Given the description of an element on the screen output the (x, y) to click on. 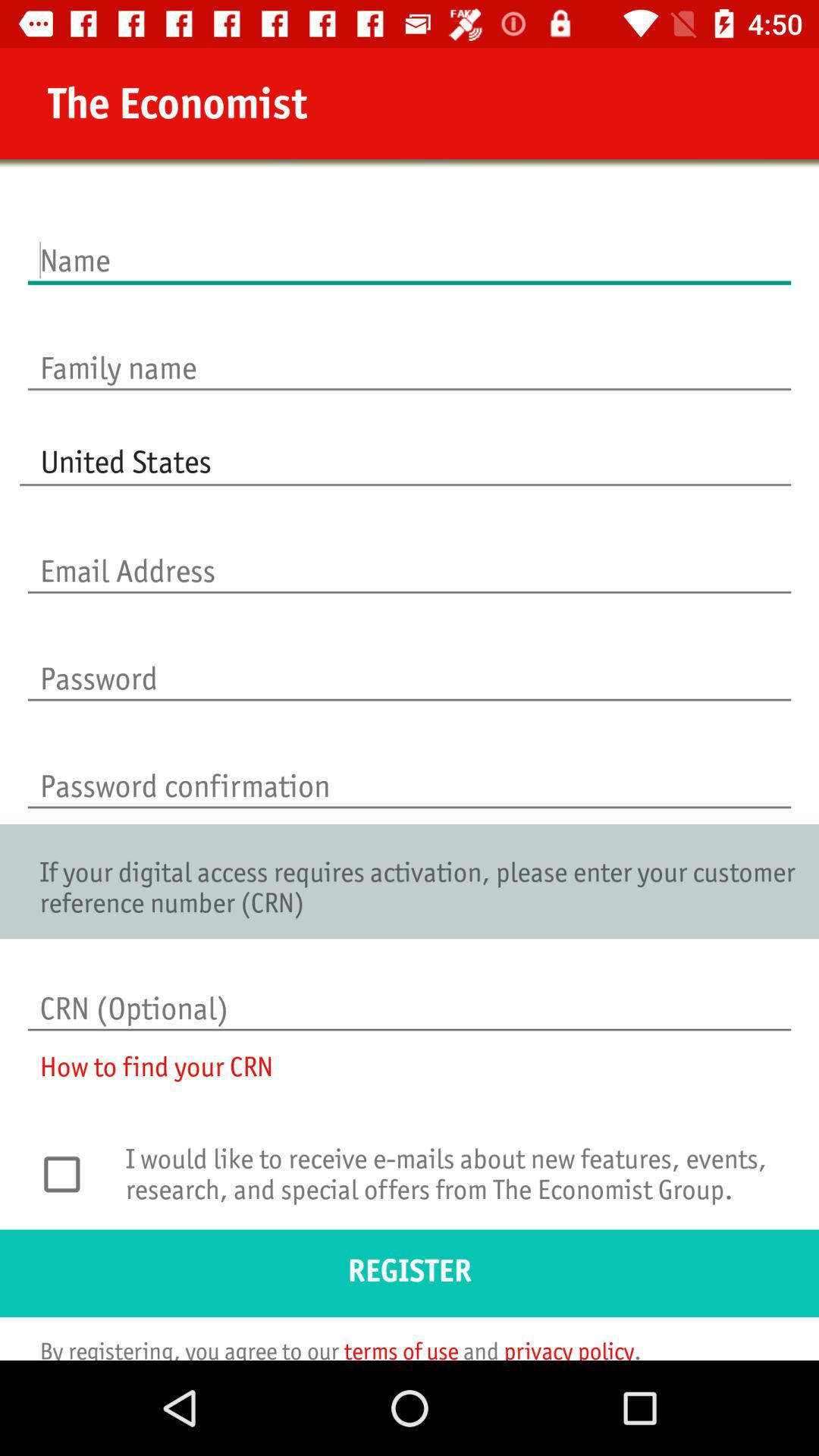
turn off icon below the how to find icon (69, 1174)
